Given the description of an element on the screen output the (x, y) to click on. 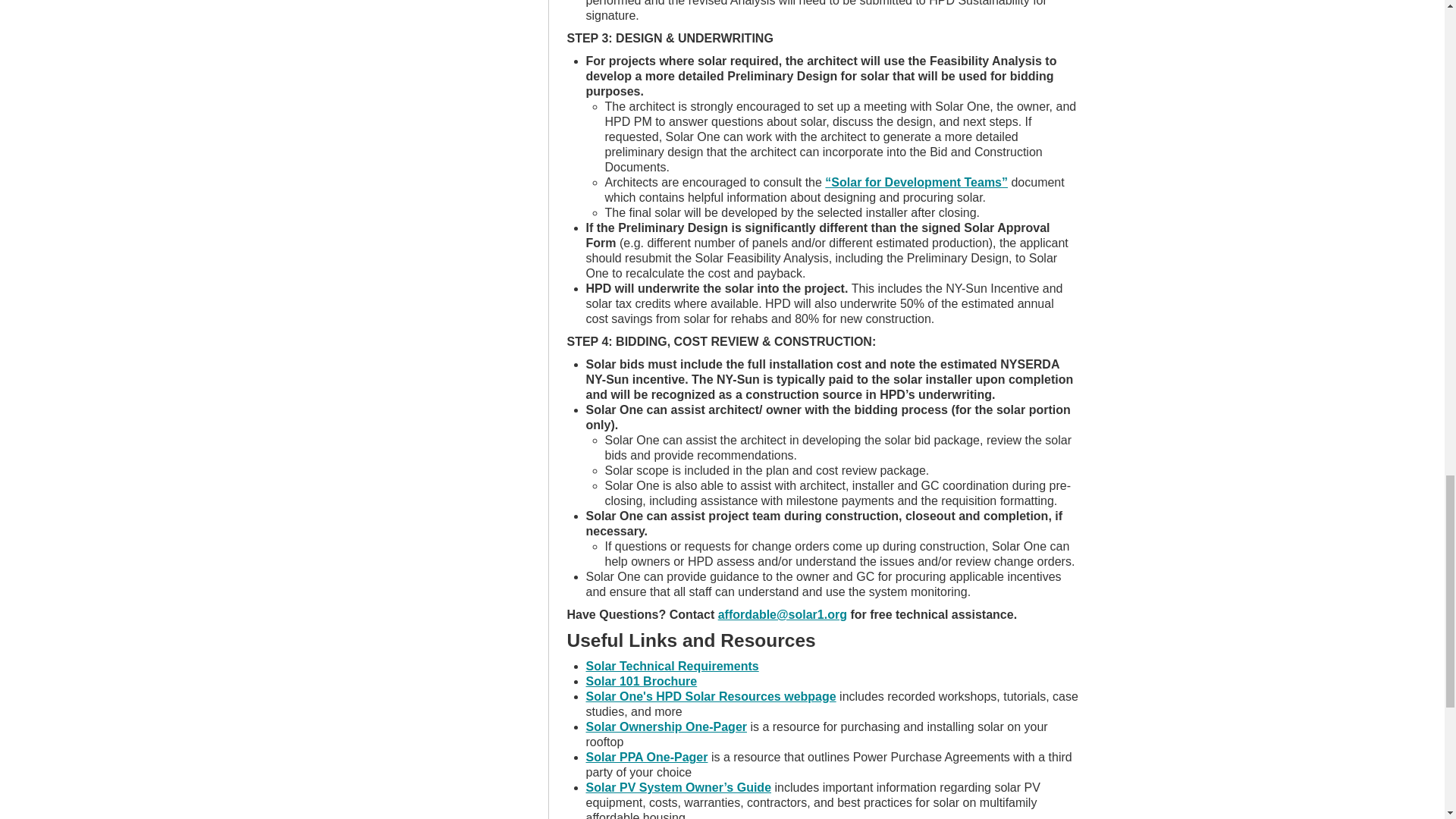
Solar One's HPD Solar Resources webpage (710, 696)
Solar Technical Requirements (671, 666)
Solar PPA One-Pager (646, 757)
Solar 101 Brochure (641, 680)
Solar Ownership One-Pager (665, 726)
